Given the description of an element on the screen output the (x, y) to click on. 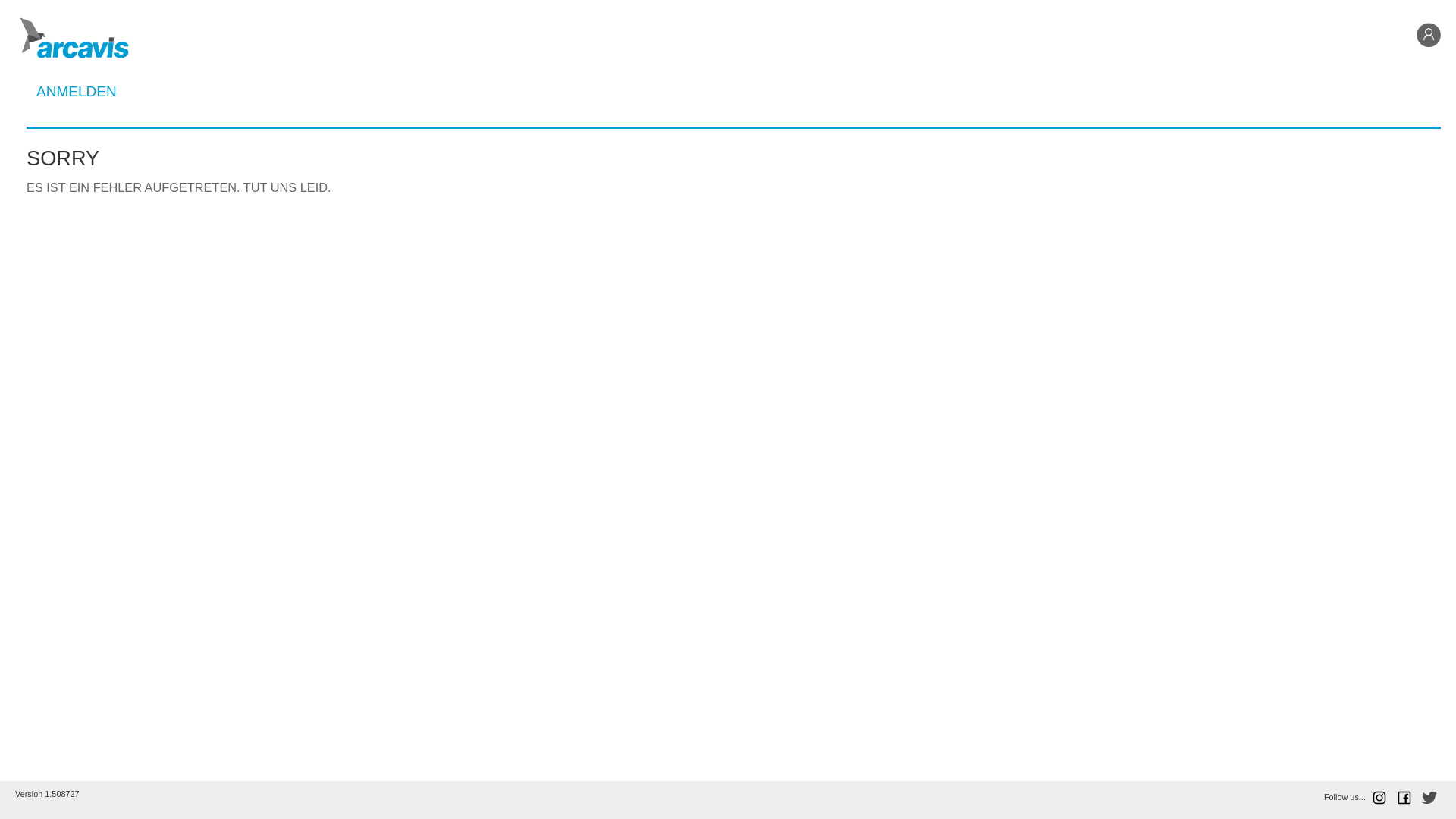
Details... Element type: text (733, 200)
ANMELDEN Element type: text (76, 91)
